Given the description of an element on the screen output the (x, y) to click on. 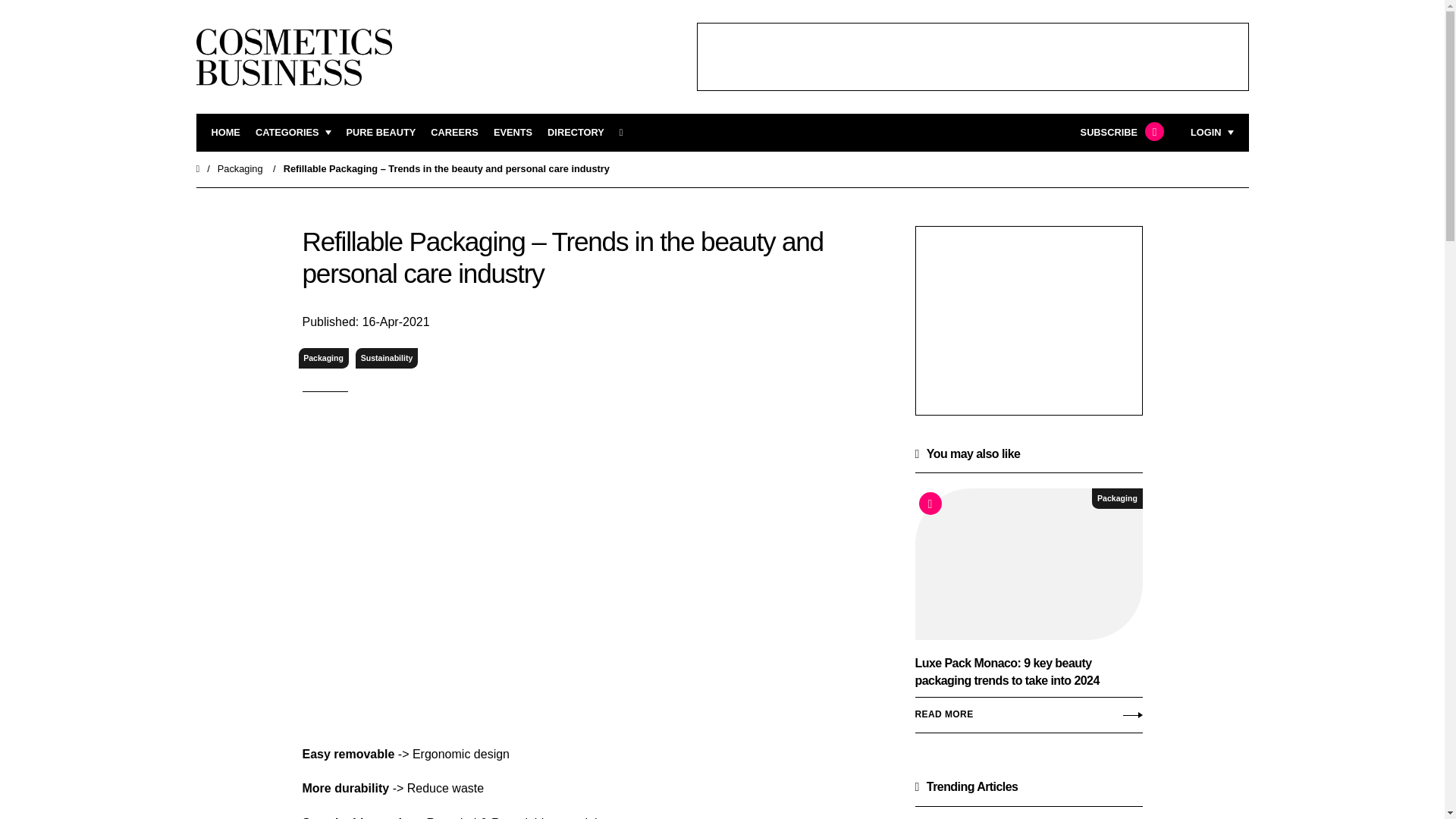
CATEGORIES (293, 133)
DIRECTORY (575, 133)
EVENTS (512, 133)
PURE BEAUTY (381, 133)
Packaging (323, 358)
CAREERS (454, 133)
Sustainability (386, 358)
SUBSCRIBE (1120, 133)
Sign In (1134, 321)
HOME (225, 133)
